Given the description of an element on the screen output the (x, y) to click on. 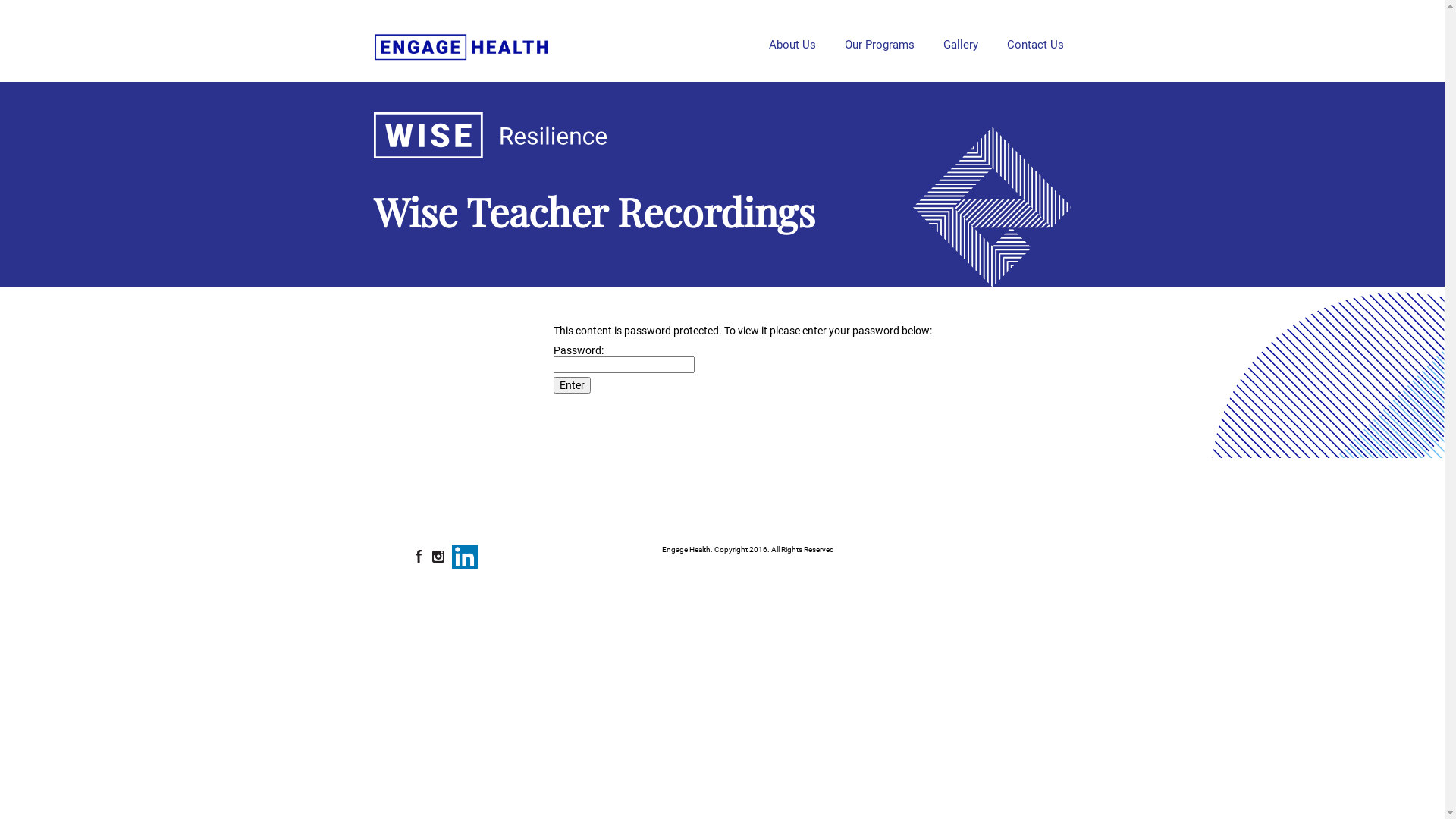
Our Programs Element type: text (879, 40)
Gallery Element type: text (960, 40)
Contact Us Element type: text (1035, 40)
About Us Element type: text (792, 40)
Enter Element type: text (571, 384)
